Given the description of an element on the screen output the (x, y) to click on. 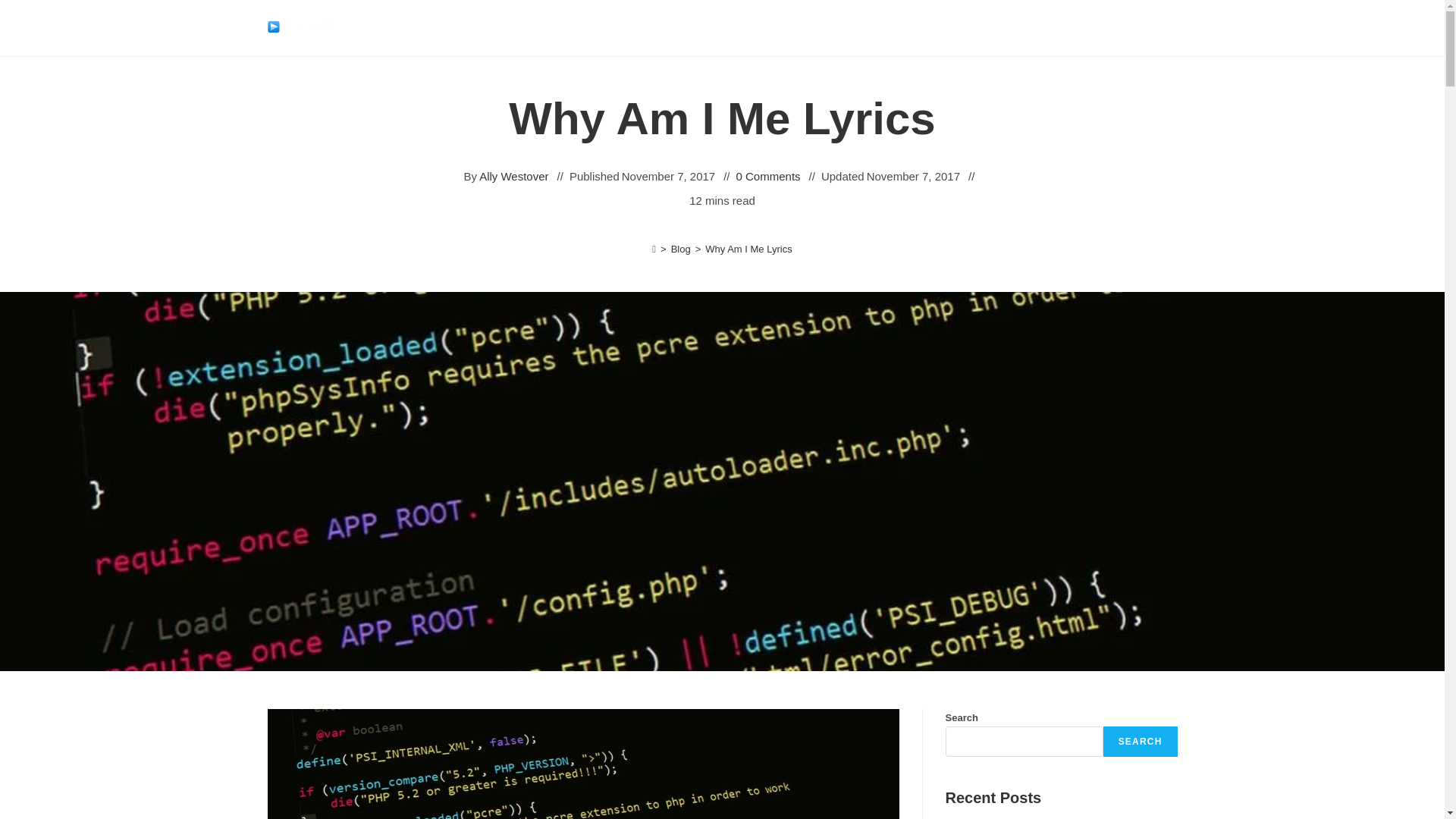
0 Comments (768, 176)
Blog (680, 248)
Why Am I Me Lyrics (748, 248)
SEARCH (1140, 741)
Ally Westover (513, 176)
